Given the description of an element on the screen output the (x, y) to click on. 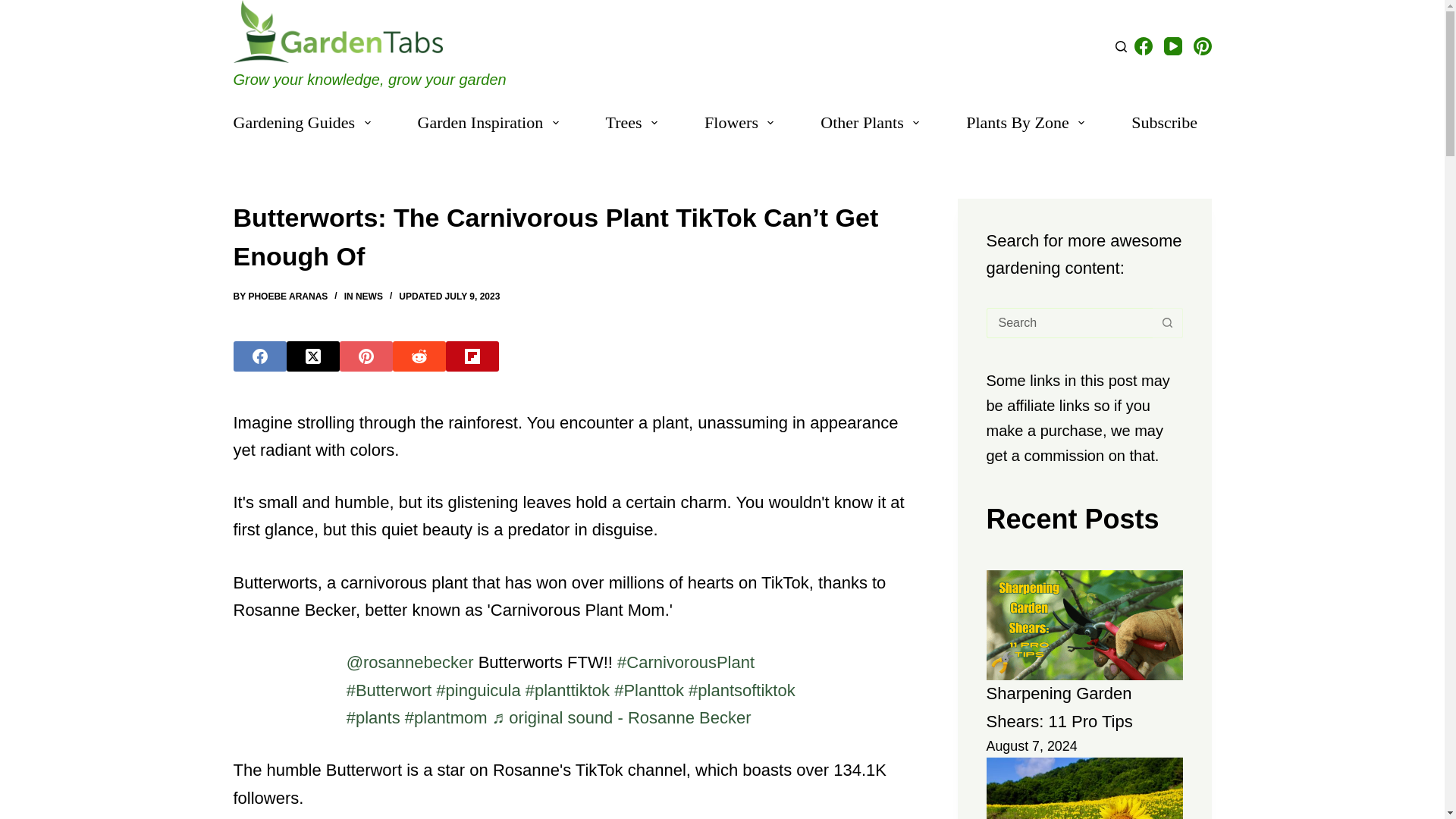
planttiktok (567, 690)
butterwort (389, 690)
Skip to content (15, 7)
Posts by Phoebe Aranas (287, 296)
planttok (649, 690)
plantmom (445, 717)
pinguicula (477, 690)
plants (373, 717)
plantsoftiktok (741, 690)
carnivorousplant (685, 661)
